Given the description of an element on the screen output the (x, y) to click on. 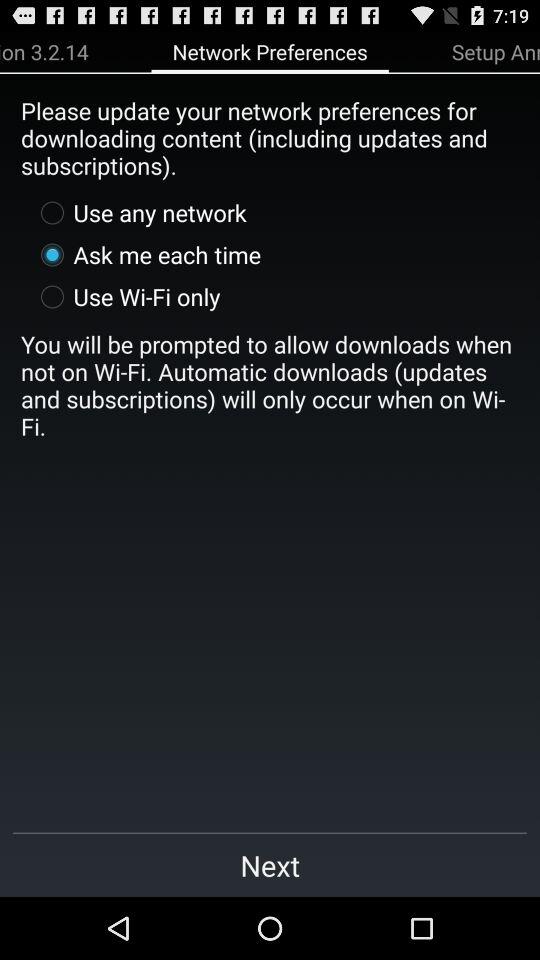
choose radio button below the use any network radio button (145, 254)
